Given the description of an element on the screen output the (x, y) to click on. 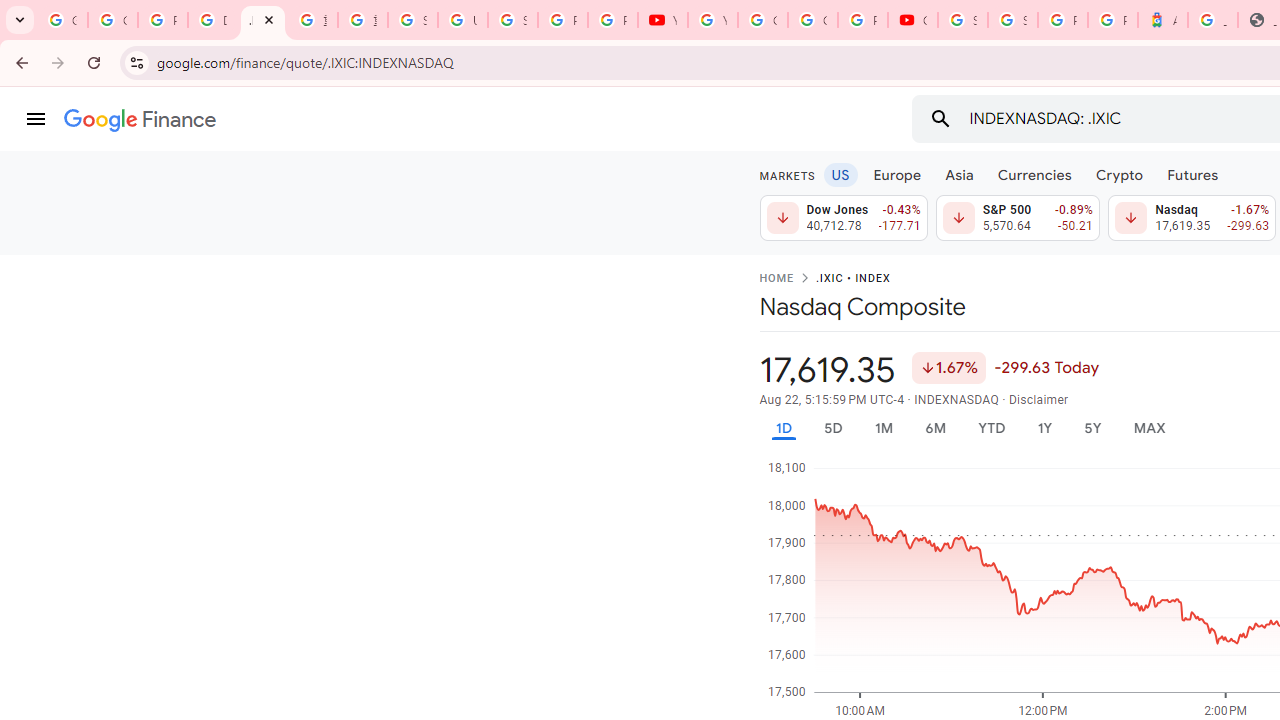
Futures (1192, 174)
S&P 500 5,570.64 Down by 0.89% -50.21 (1017, 218)
Sign in - Google Accounts (963, 20)
Google Account Help (763, 20)
Create your Google Account (813, 20)
Nasdaq 17,619.35 Down by 1.67% -299.63 (1192, 218)
1M (882, 427)
US (840, 174)
Google Workspace Admin Community (62, 20)
YTD (991, 427)
